Given the description of an element on the screen output the (x, y) to click on. 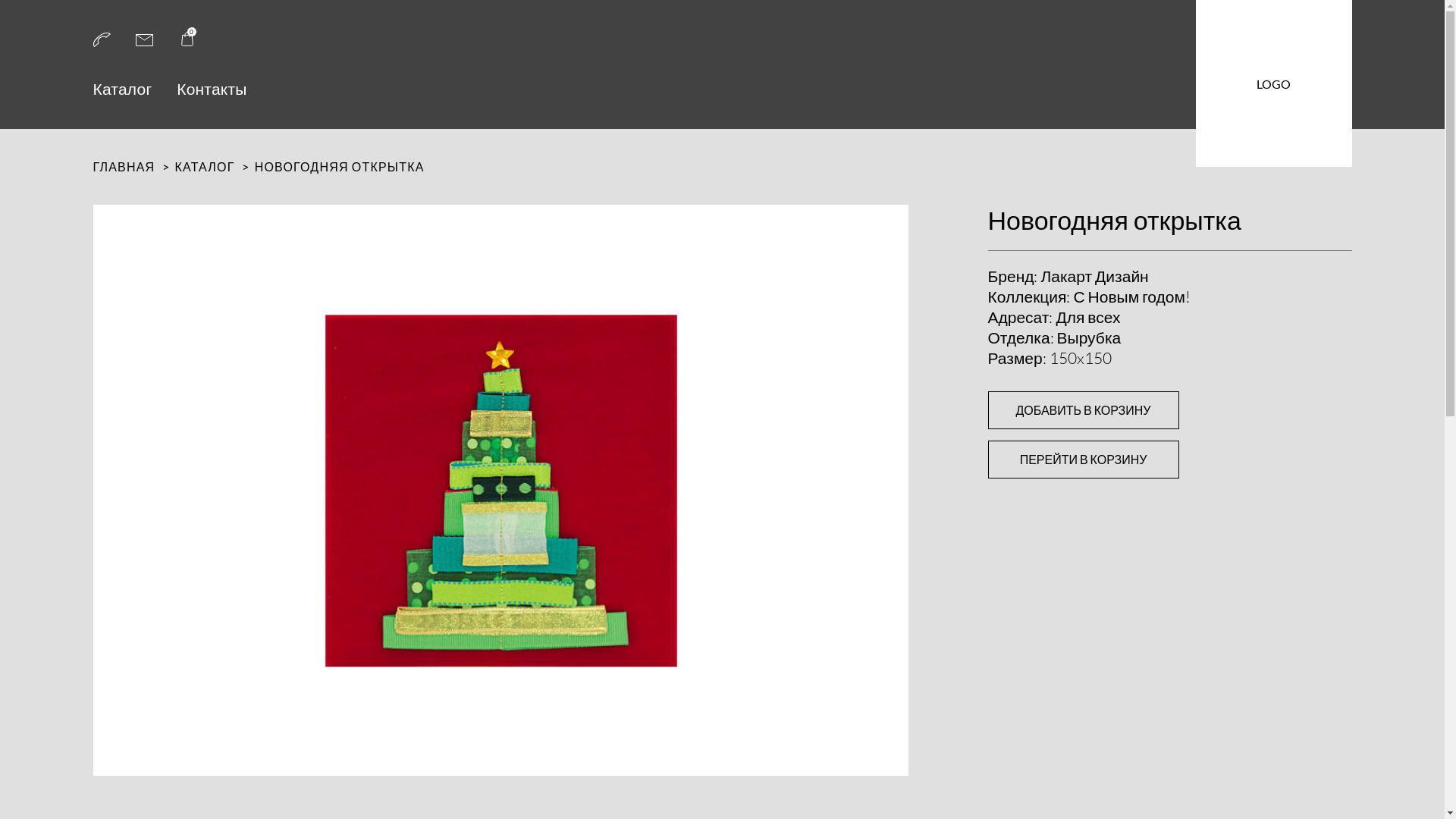
LOGO Element type: text (1273, 83)
0 Element type: text (186, 43)
